Given the description of an element on the screen output the (x, y) to click on. 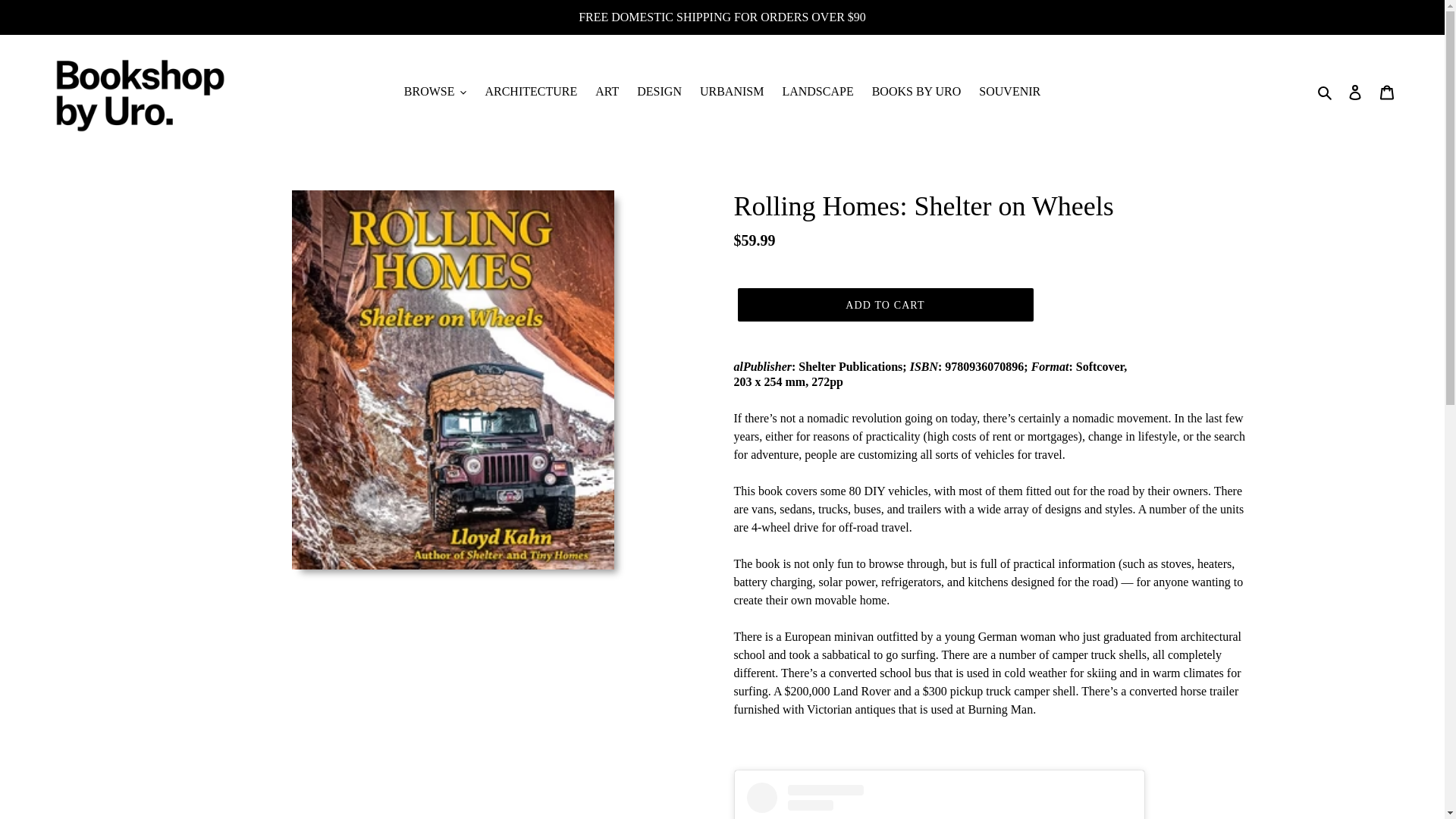
Log in (1355, 91)
ART (607, 91)
BOOKS BY URO (916, 91)
Search (1326, 91)
SOUVENIR (1009, 91)
ARCHITECTURE (531, 91)
URBANISM (732, 91)
BROWSE (435, 91)
DESIGN (658, 91)
Cart (1387, 91)
